Given the description of an element on the screen output the (x, y) to click on. 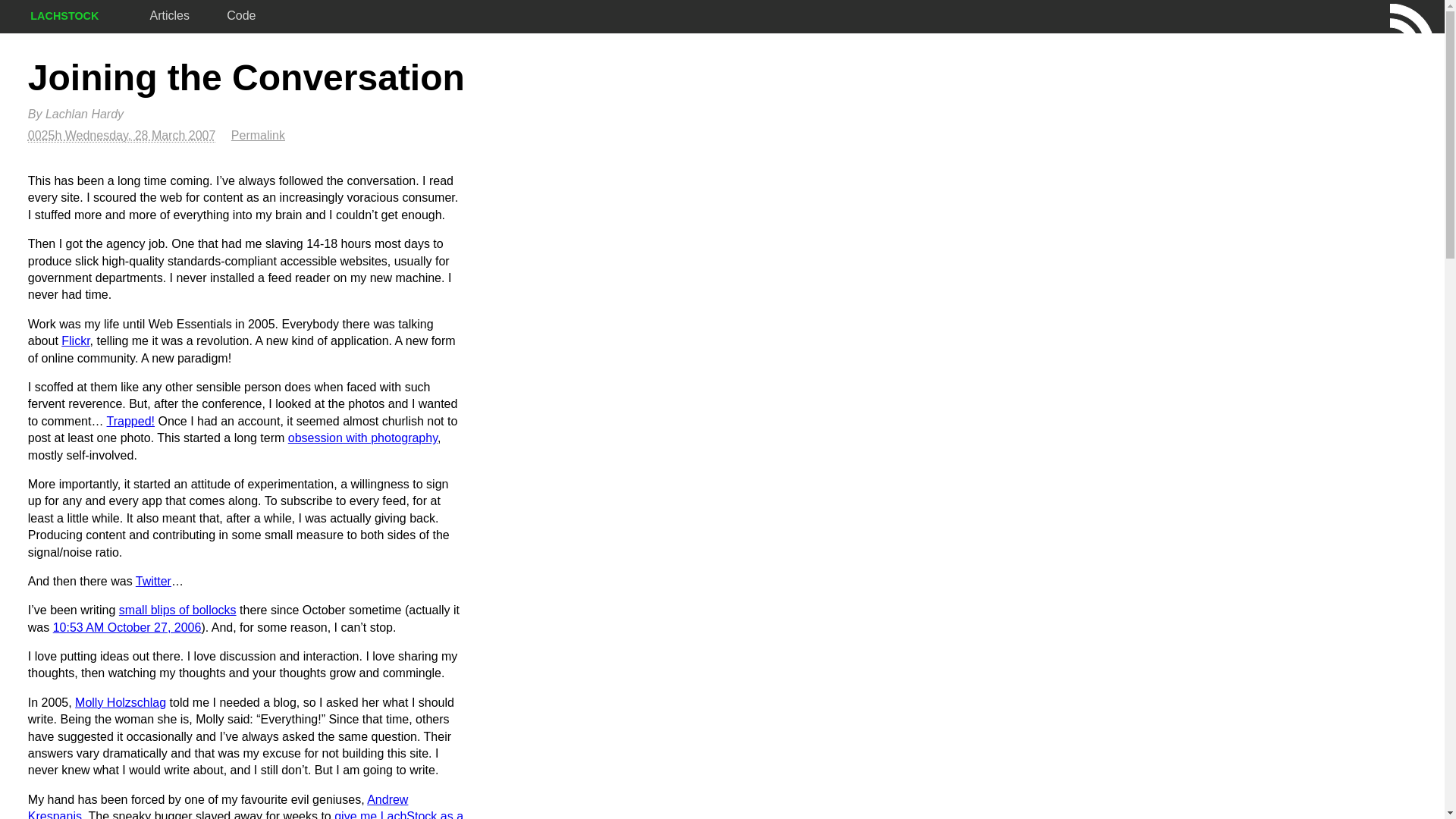
Twitter Element type: text (153, 580)
Flickr Element type: text (75, 340)
10:53 AM October 27, 2006 Element type: text (127, 627)
Trapped! Element type: text (130, 420)
small blips of bollocks Element type: text (177, 609)
Code Element type: text (241, 16)
Molly Holzschlag Element type: text (120, 702)
obsession with photography Element type: text (362, 437)
Articles Element type: text (169, 16)
Permalink Element type: text (258, 134)
LACHSTOCK Element type: text (64, 16)
